Given the description of an element on the screen output the (x, y) to click on. 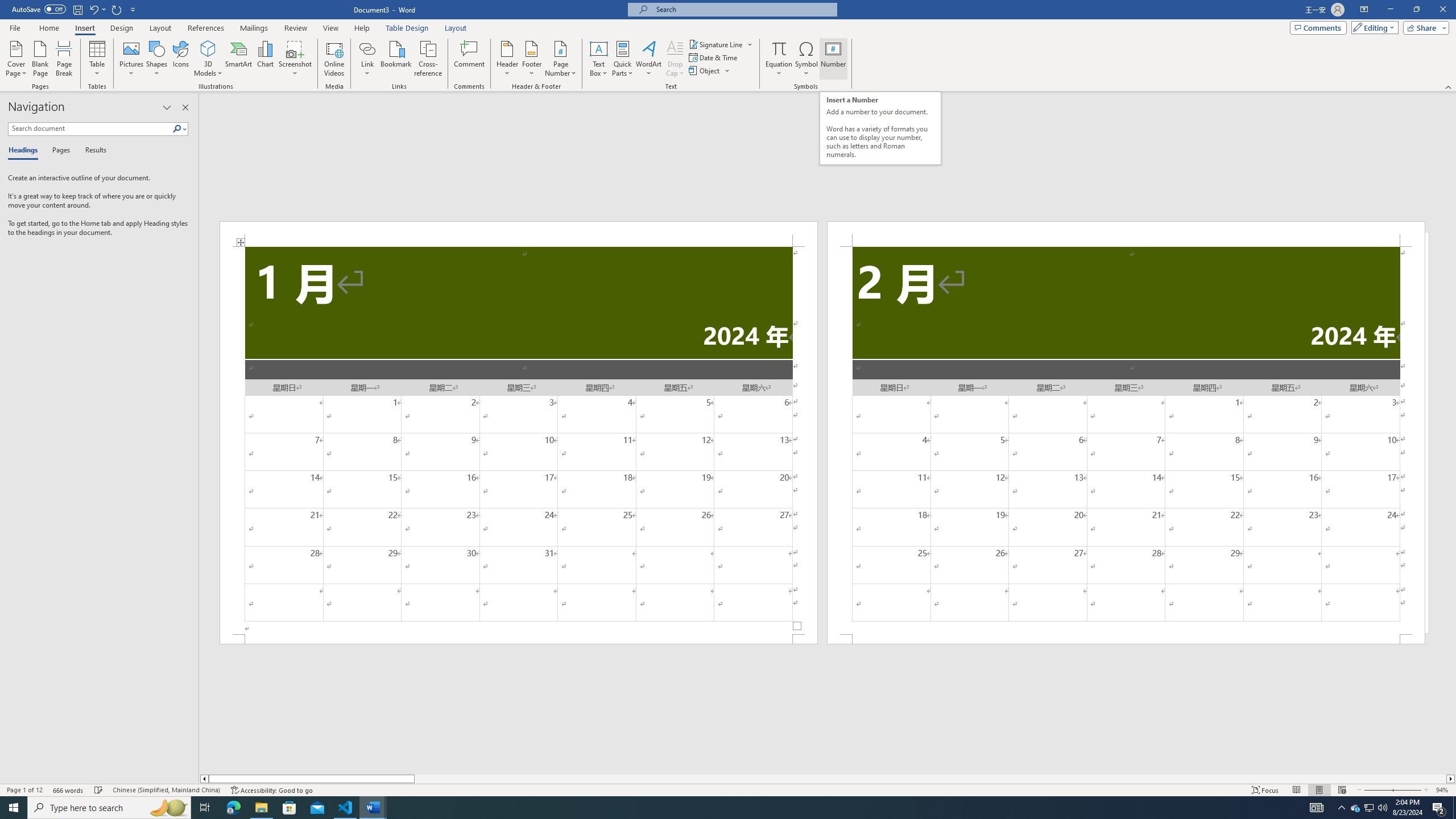
Column right (1450, 778)
Spelling and Grammar Check Checking (98, 790)
Signature Line (721, 44)
Quick Parts (622, 58)
Signature Line (716, 44)
Pages (59, 150)
Mode (1372, 27)
Page 1 content (518, 439)
Link (367, 48)
